Given the description of an element on the screen output the (x, y) to click on. 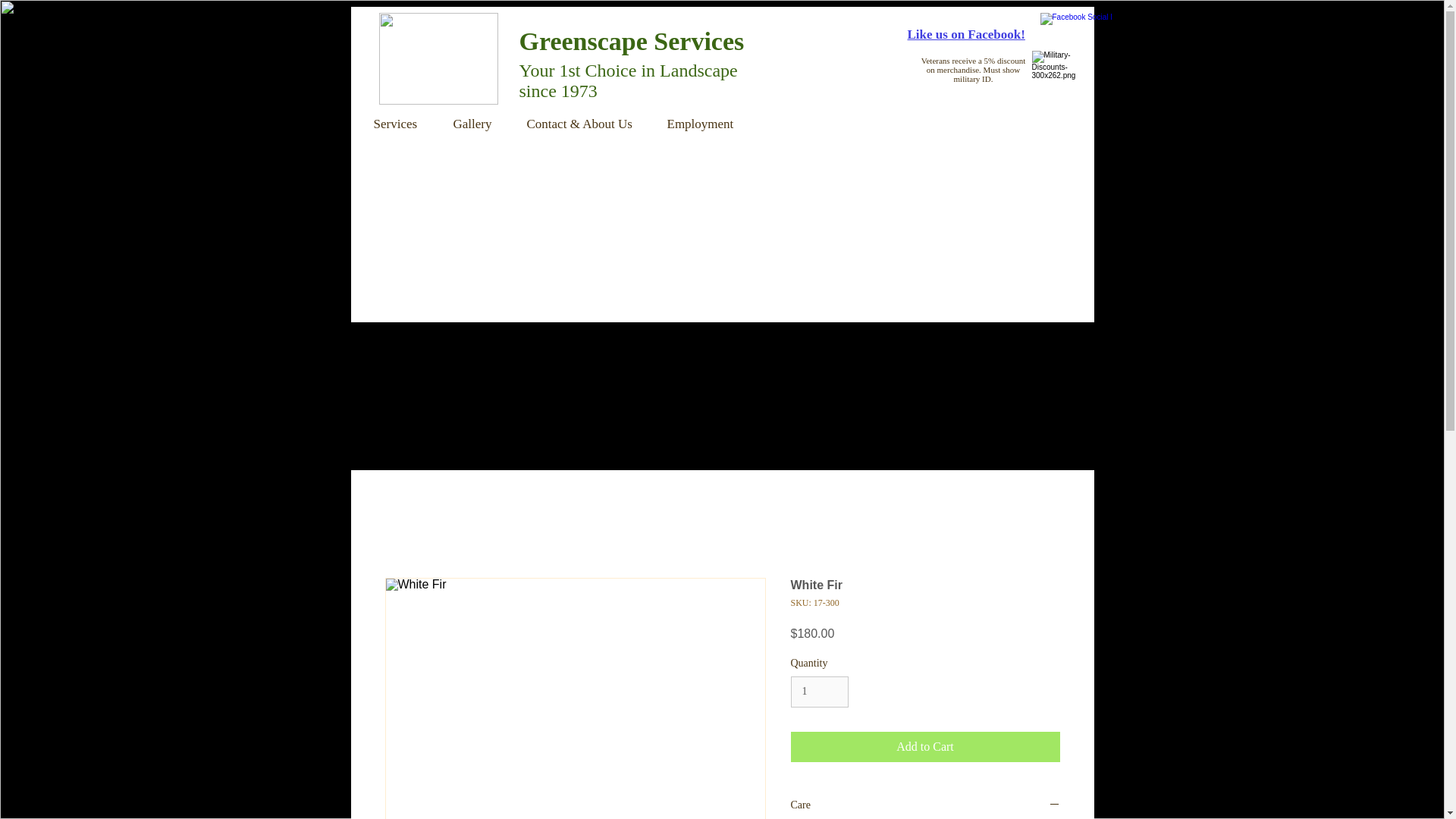
1 (818, 691)
Like us on Facebook! (966, 34)
Employment (706, 123)
Add to Cart (924, 747)
Care (924, 806)
Services (402, 123)
Gallery (478, 123)
